Given the description of an element on the screen output the (x, y) to click on. 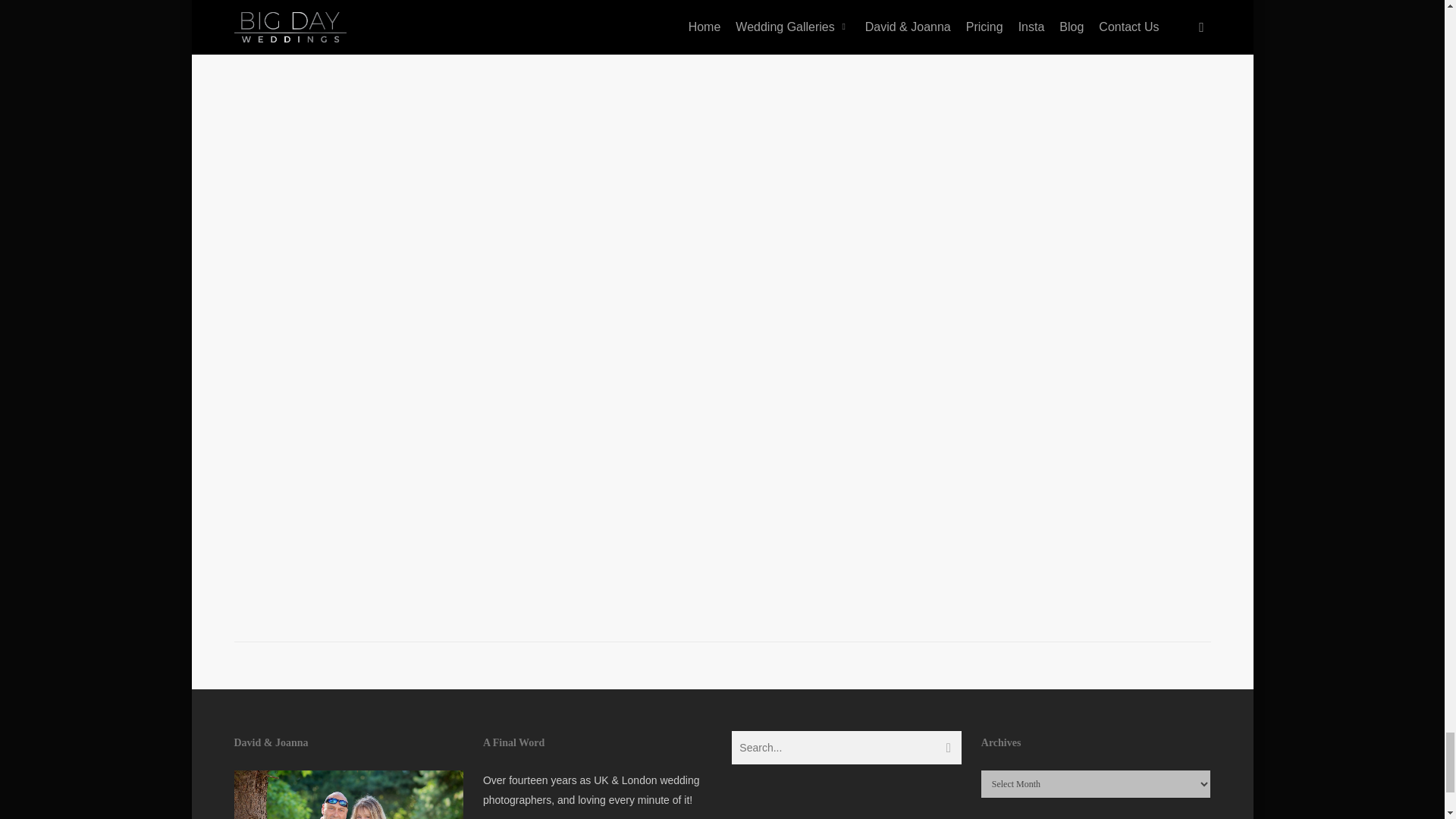
Search for: (846, 747)
